Given the description of an element on the screen output the (x, y) to click on. 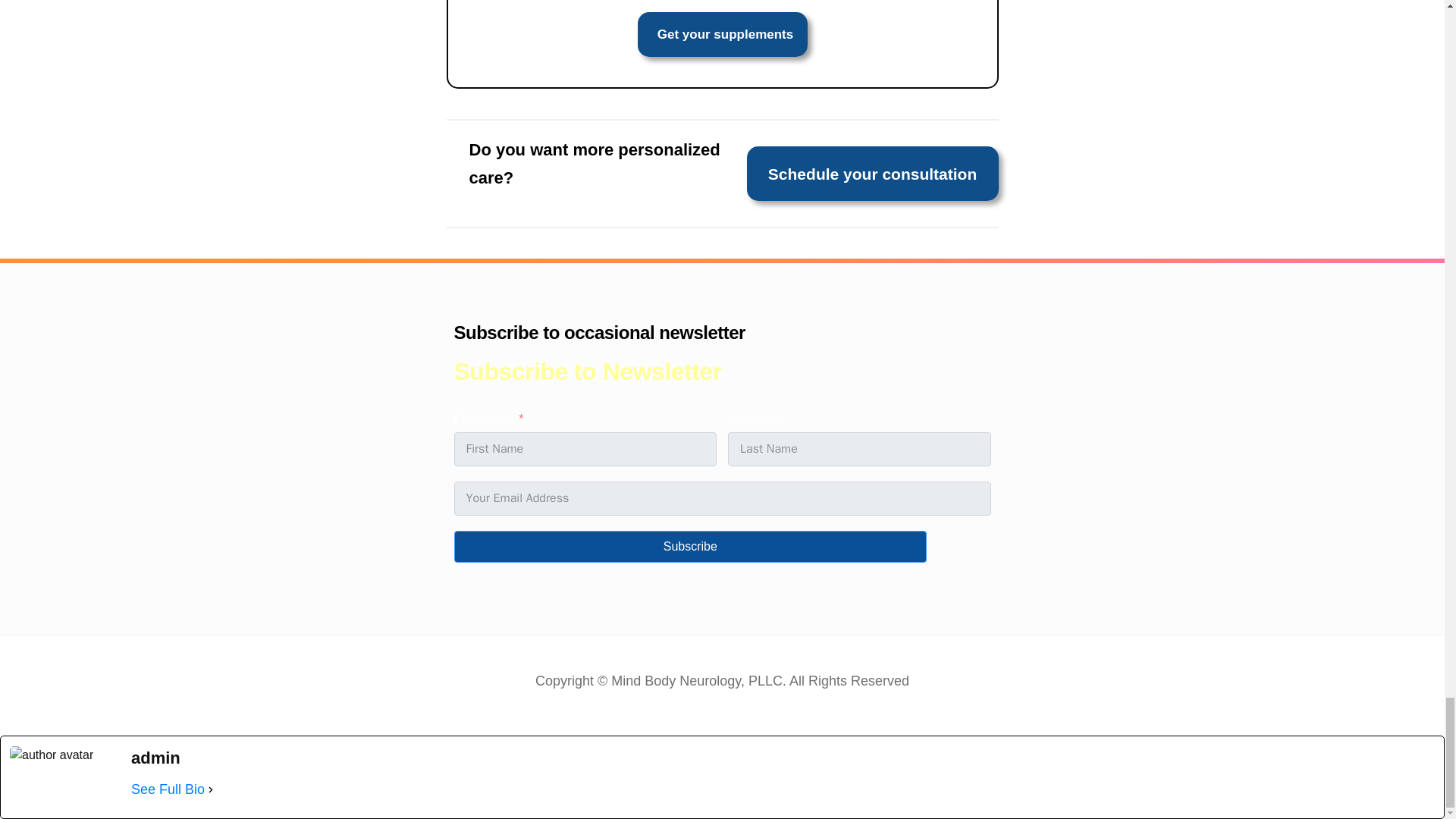
See Full Bio (168, 789)
Schedule your consultation (872, 173)
Get your supplements (721, 34)
Subscribe (689, 546)
